Given the description of an element on the screen output the (x, y) to click on. 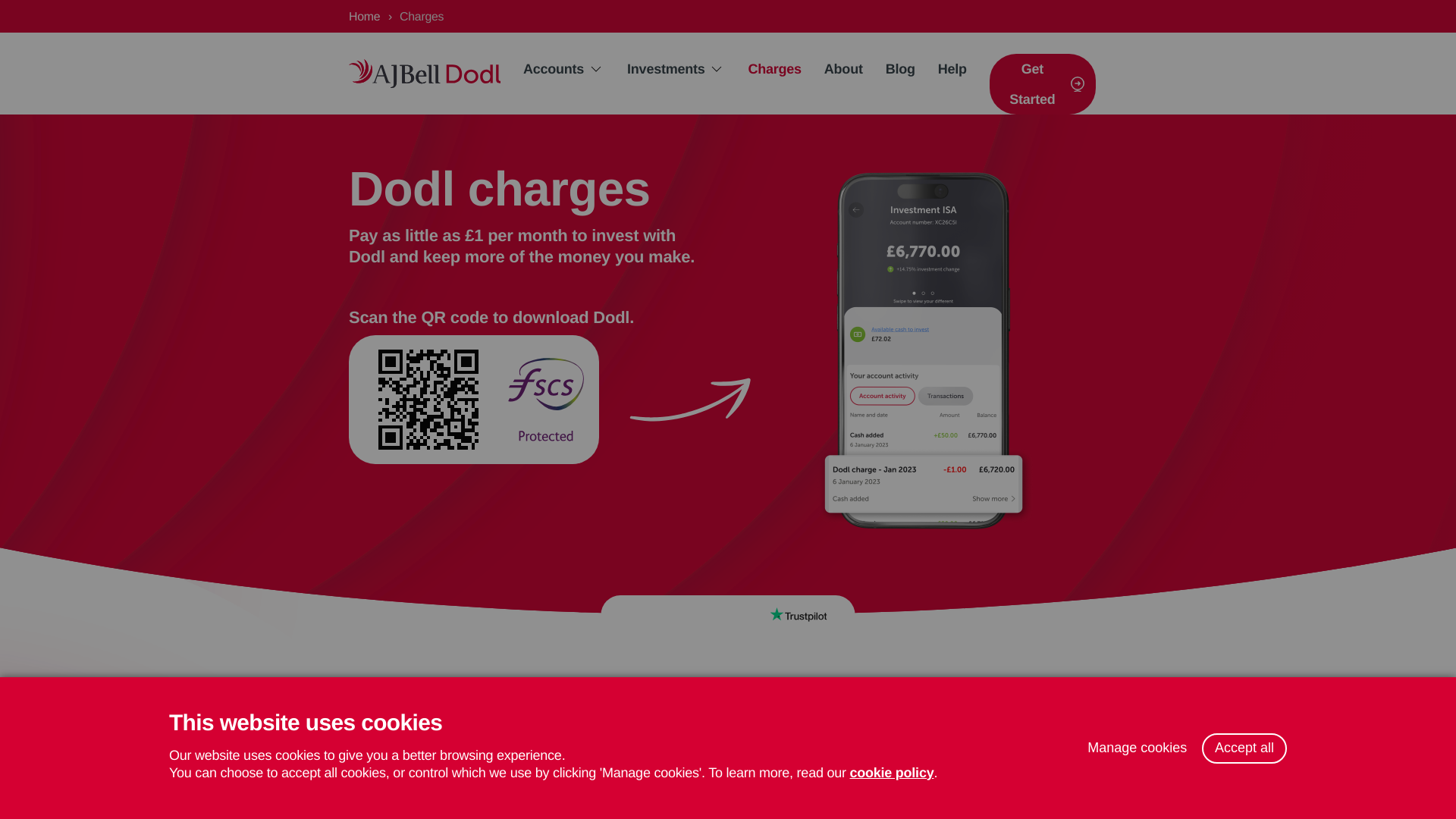
Home (364, 16)
Accept all (1244, 748)
Investments (675, 68)
Home (424, 73)
Get Started (1043, 84)
Charges (774, 68)
Manage cookies (1136, 748)
Accounts (563, 68)
cookie policy (890, 771)
